Given the description of an element on the screen output the (x, y) to click on. 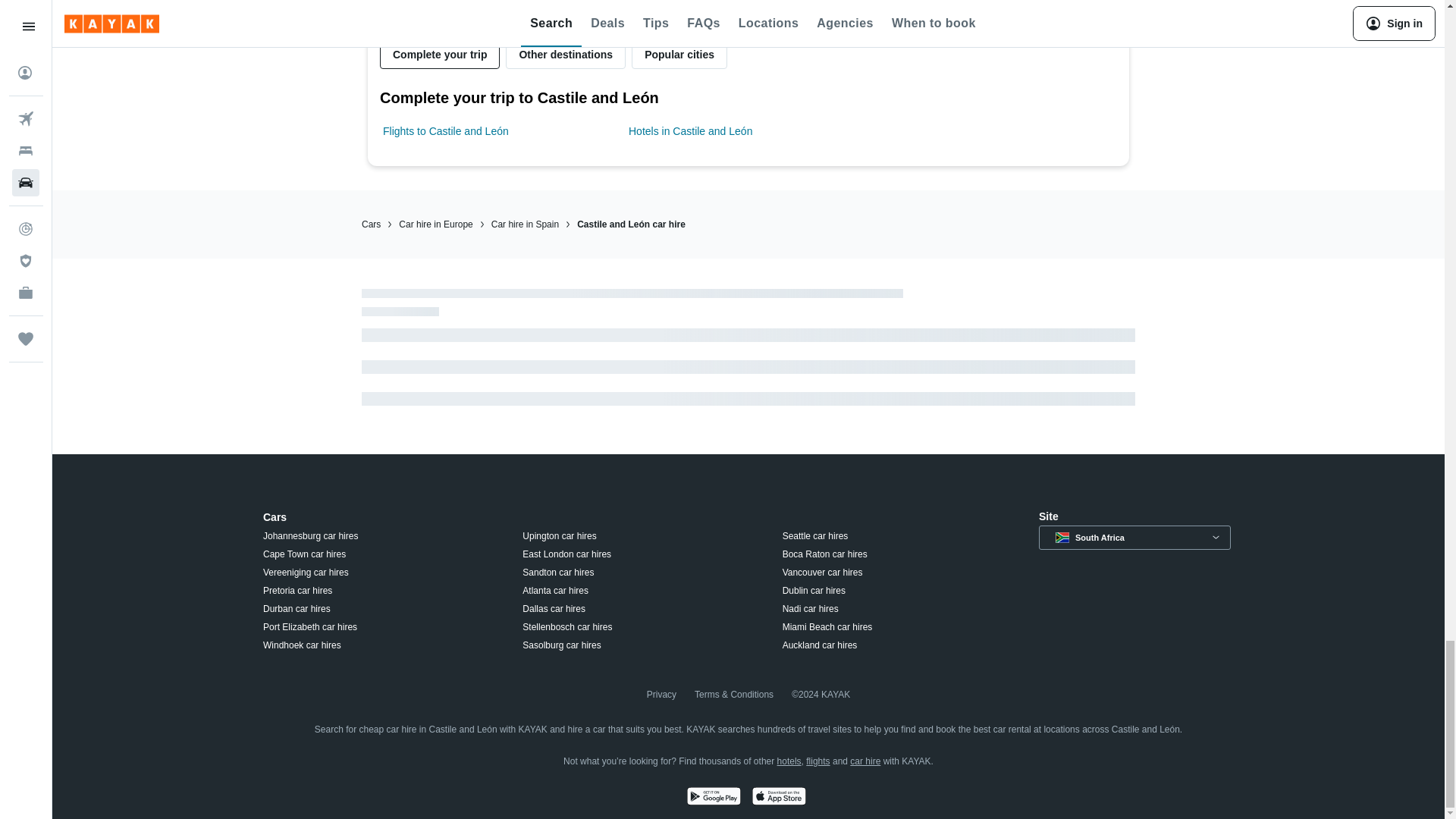
Download on the App Store (778, 797)
Other destinations (565, 54)
Get it on Google Play (713, 797)
Complete your trip (439, 54)
